Given the description of an element on the screen output the (x, y) to click on. 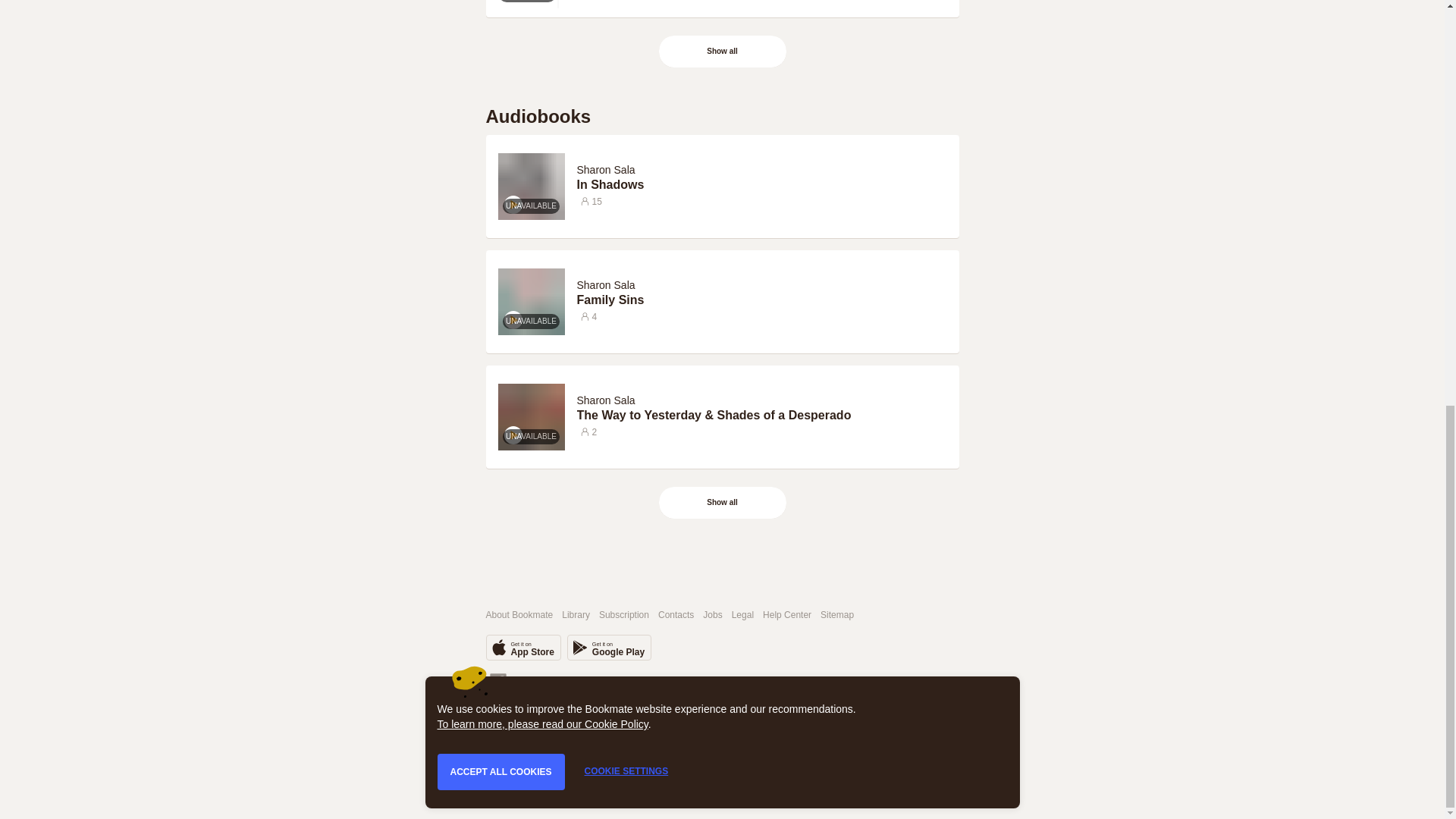
In Shadows (761, 184)
Library (575, 614)
About Bookmate (518, 614)
Family Sins (761, 299)
Sharon Sala (605, 169)
Sharon Sala (608, 399)
In Shadows (761, 184)
Subscription (623, 614)
Show all (722, 502)
Sharon Sala (608, 284)
Show all (722, 51)
Legal (743, 614)
Sharon Sala (605, 399)
Show all (722, 502)
Sharon Sala (605, 285)
